Given the description of an element on the screen output the (x, y) to click on. 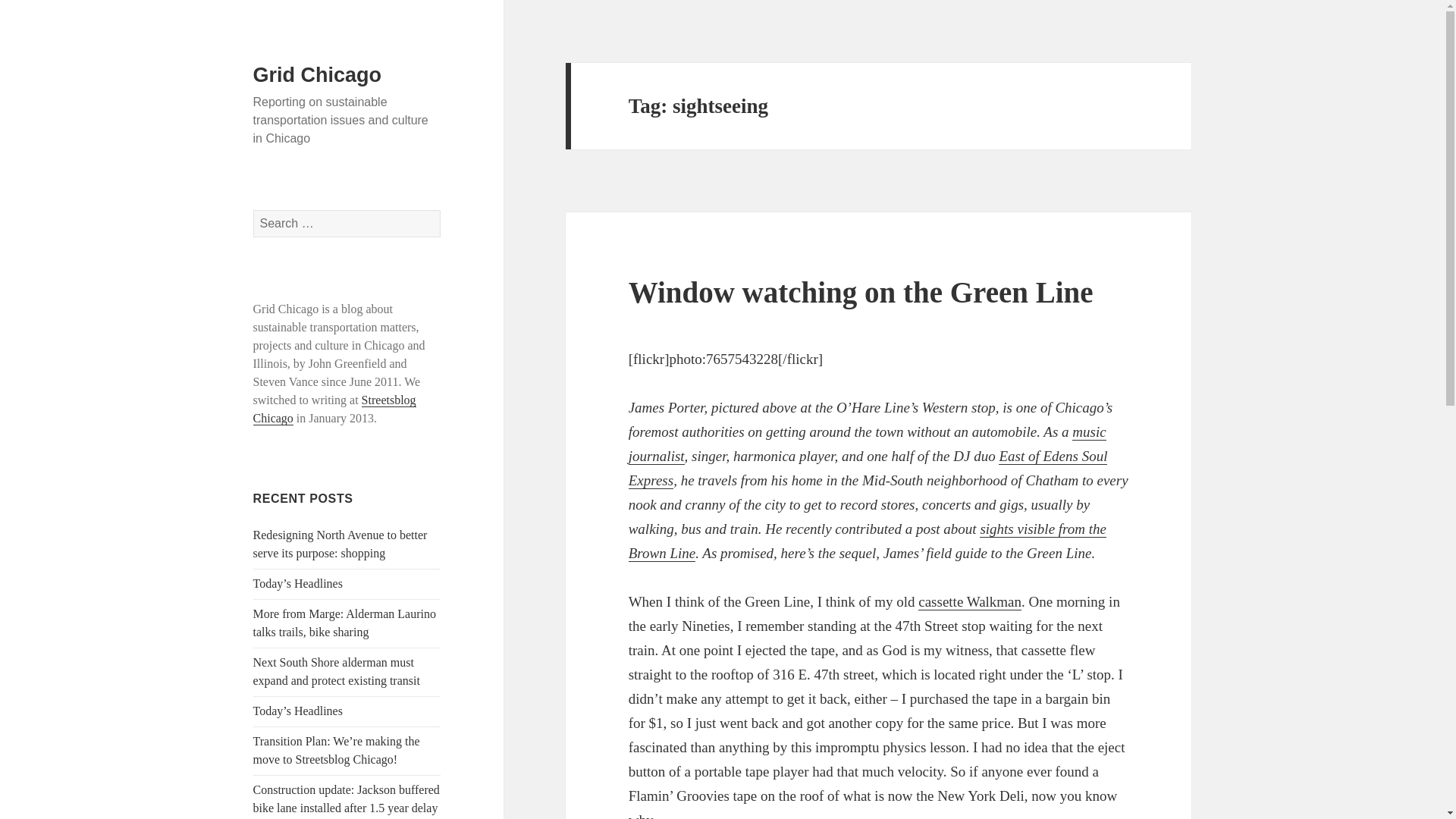
sights visible from the Brown Line (867, 540)
More from Marge: Alderman Laurino talks trails, bike sharing (344, 622)
Streetsblog Chicago (334, 409)
East of Edens Soul Express (868, 467)
music journalist (867, 444)
Grid Chicago (317, 74)
